Given the description of an element on the screen output the (x, y) to click on. 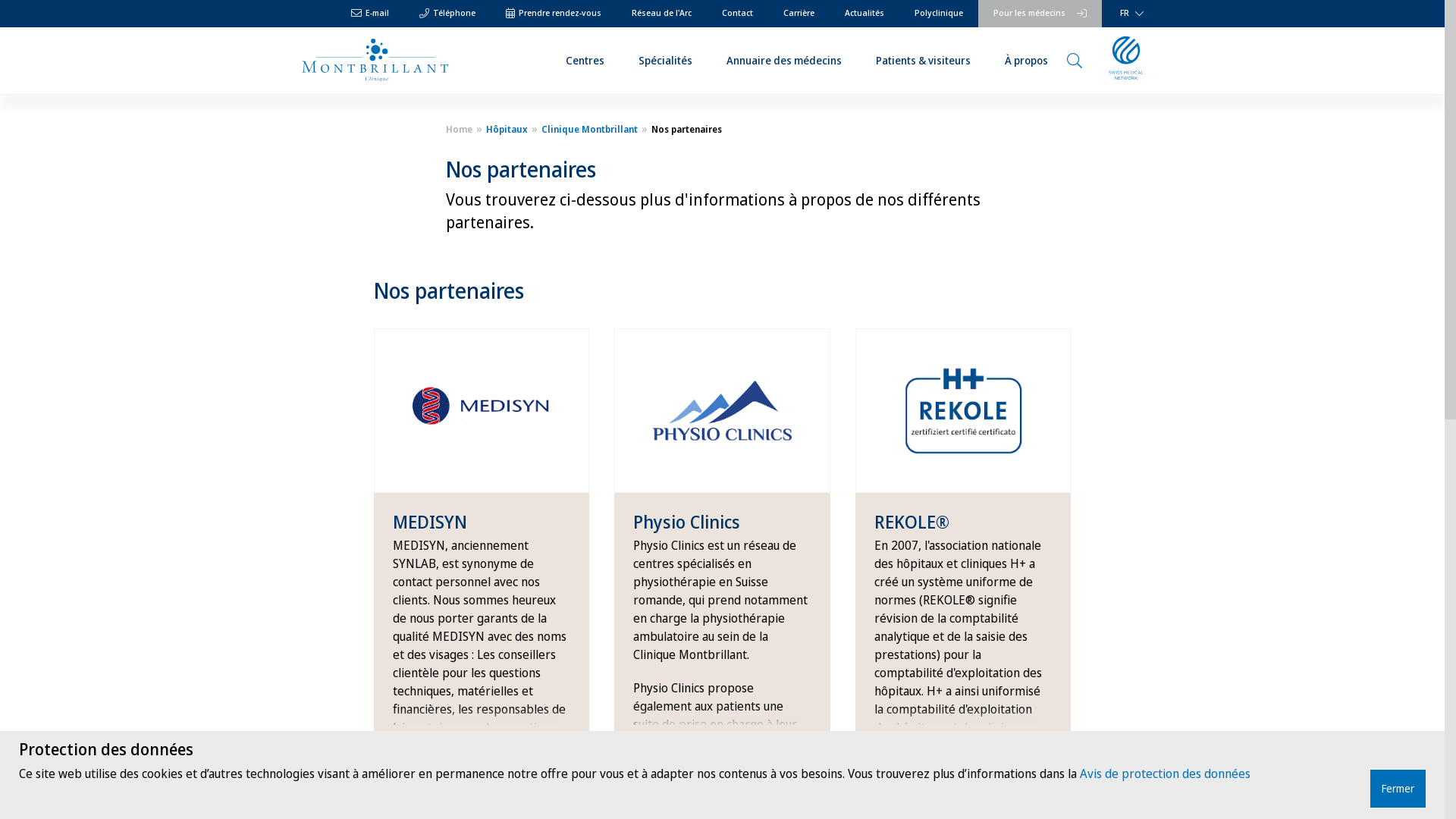
FR Element type: text (1128, 13)
Fermer Element type: text (1397, 788)
Voir plus Element type: text (899, 737)
Voir plus Element type: text (417, 737)
Voir plus Element type: text (658, 737)
Home Element type: text (458, 128)
Clinique Montbrillant Element type: text (586, 128)
